Given the description of an element on the screen output the (x, y) to click on. 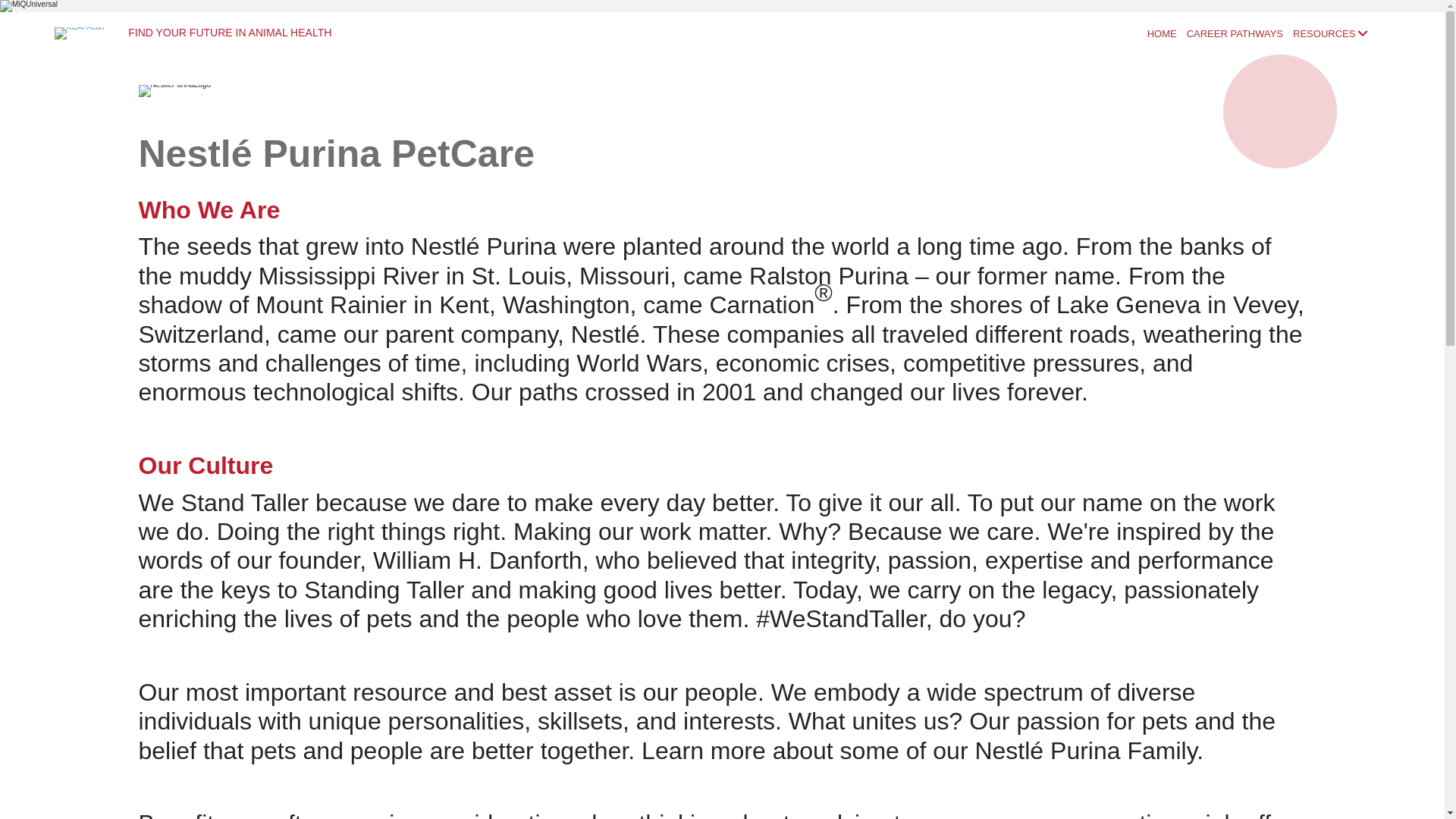
HOME (1161, 33)
RESOURCES (1329, 33)
CAREER PATHWAYS (1234, 33)
NestlePurinaLogo (174, 91)
KCAH-icon (79, 33)
